Given the description of an element on the screen output the (x, y) to click on. 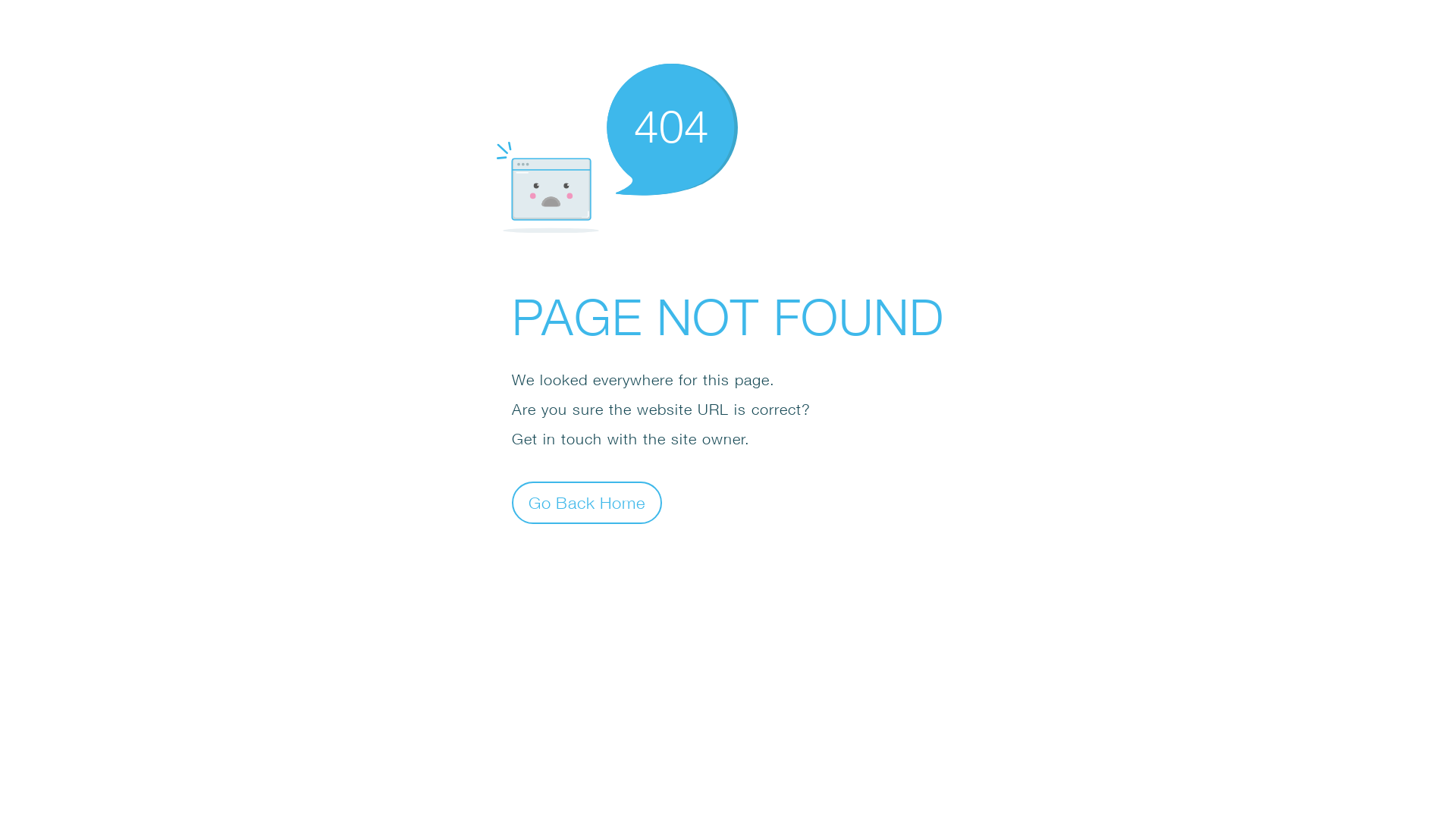
Go Back Home Element type: text (586, 502)
